Given the description of an element on the screen output the (x, y) to click on. 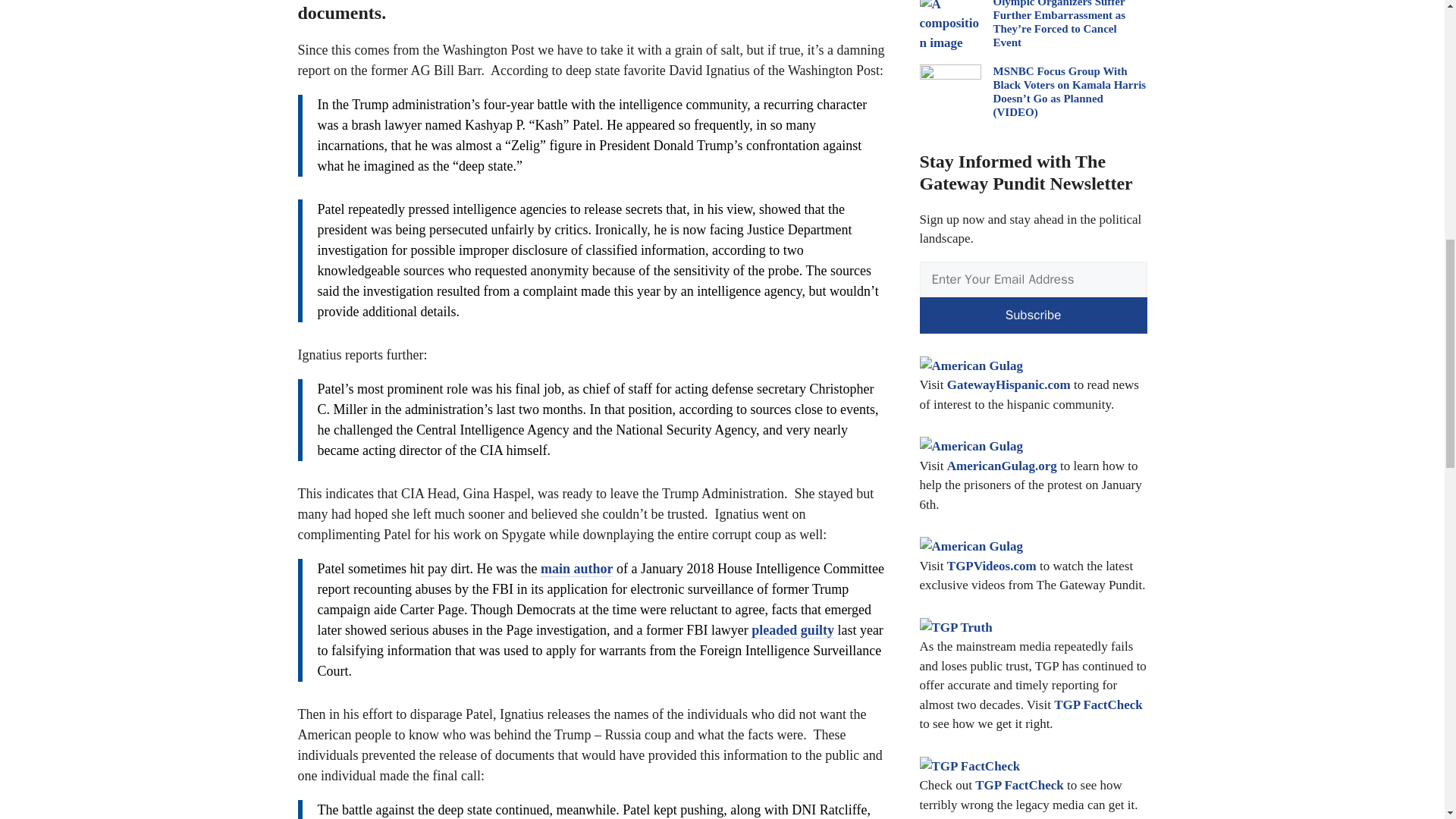
Subscribe (1032, 315)
